Given the description of an element on the screen output the (x, y) to click on. 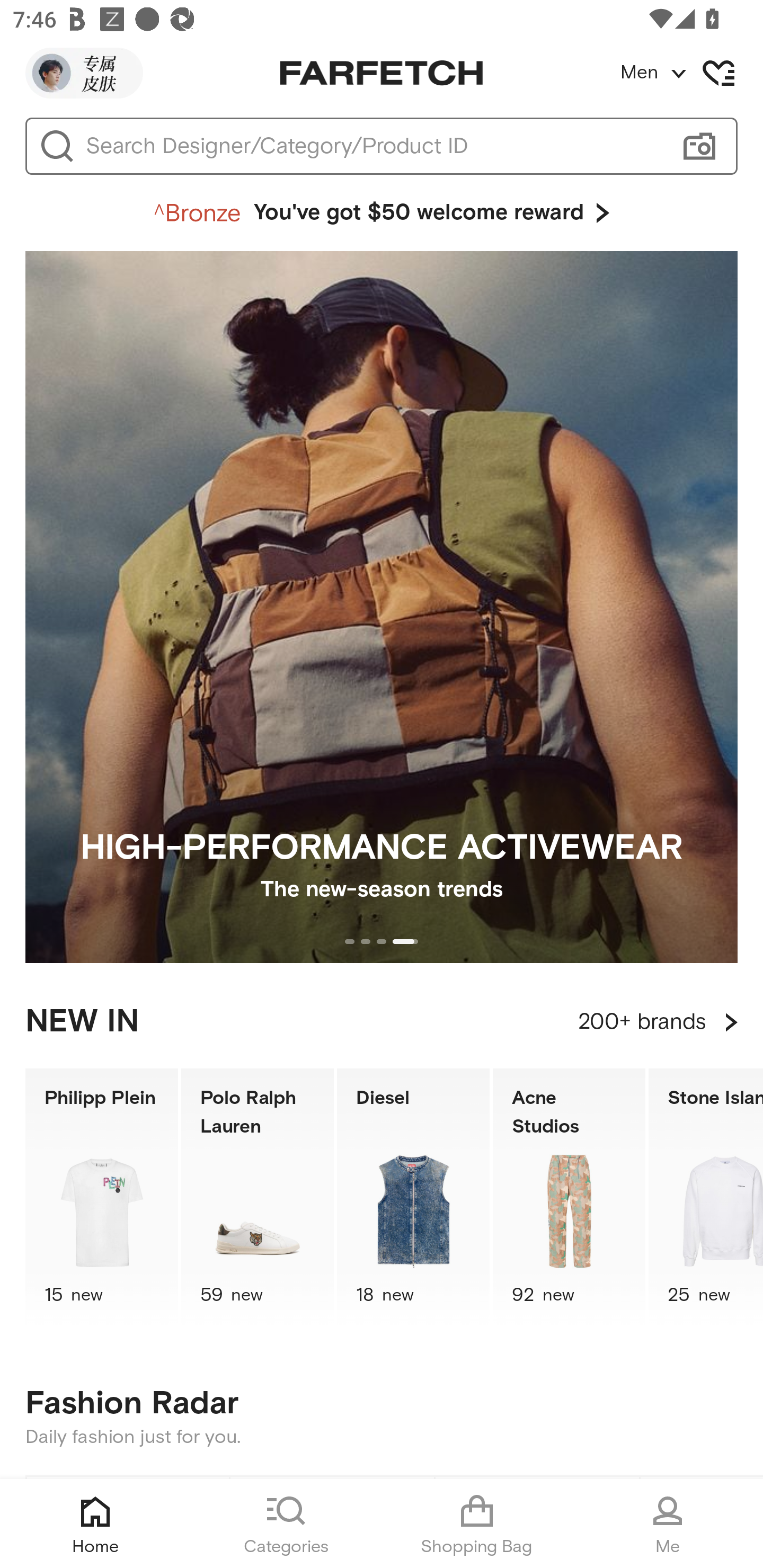
Men (691, 72)
Search Designer/Category/Product ID (373, 146)
You've got $50 welcome reward (381, 213)
NEW IN 200+ brands (381, 1021)
Philipp Plein 15  new (101, 1196)
Polo Ralph Lauren 59  new (257, 1196)
Diesel 18  new (413, 1196)
Acne Studios 92  new (568, 1196)
Stone Island 25  new (705, 1196)
Categories (285, 1523)
Shopping Bag (476, 1523)
Me (667, 1523)
